Given the description of an element on the screen output the (x, y) to click on. 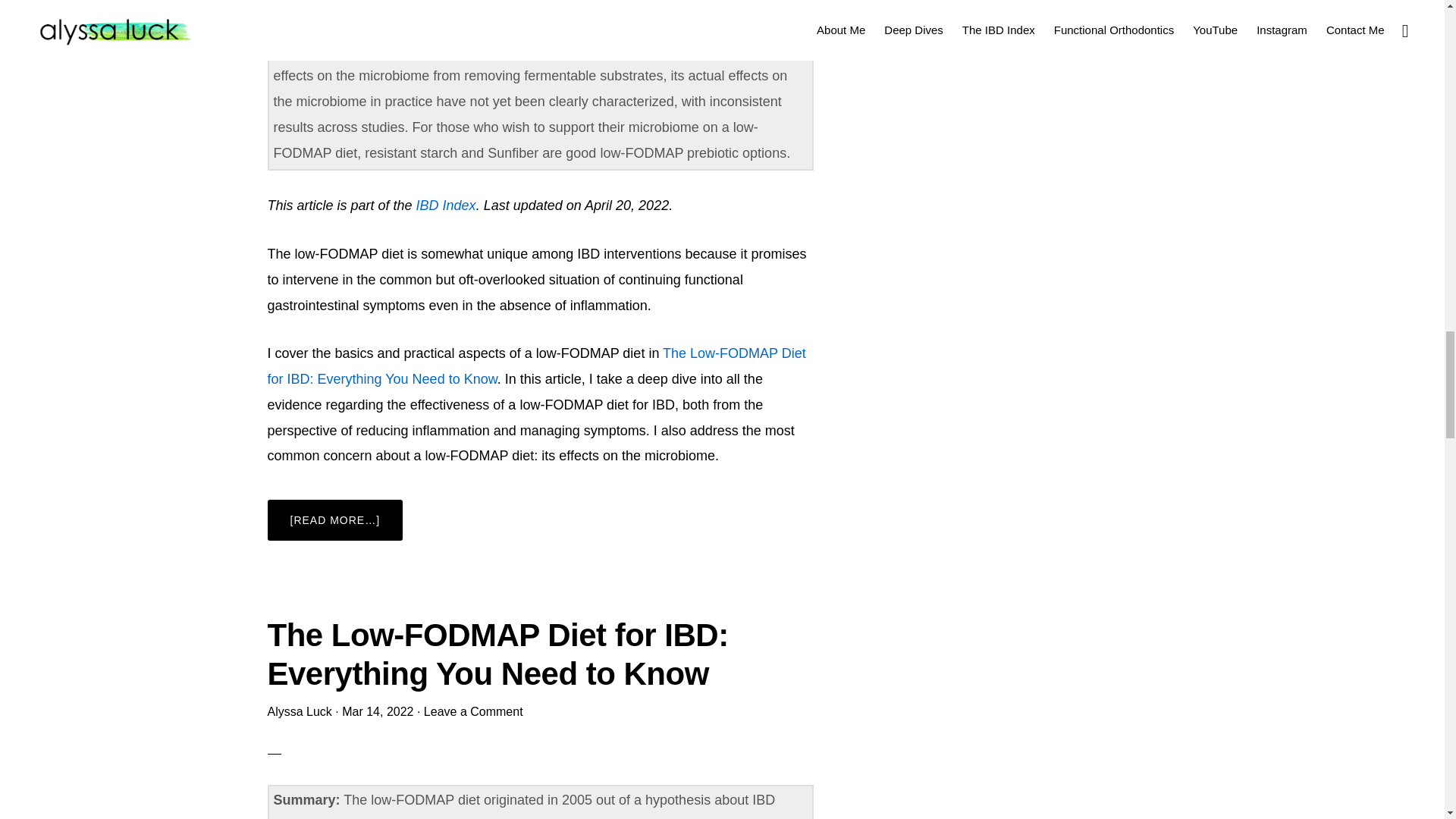
Leave a Comment (472, 711)
Alyssa Luck (298, 711)
The Low-FODMAP Diet for IBD: Everything You Need to Know (497, 654)
IBD Index (446, 205)
The Low-FODMAP Diet for IBD: Everything You Need to Know (535, 365)
